Given the description of an element on the screen output the (x, y) to click on. 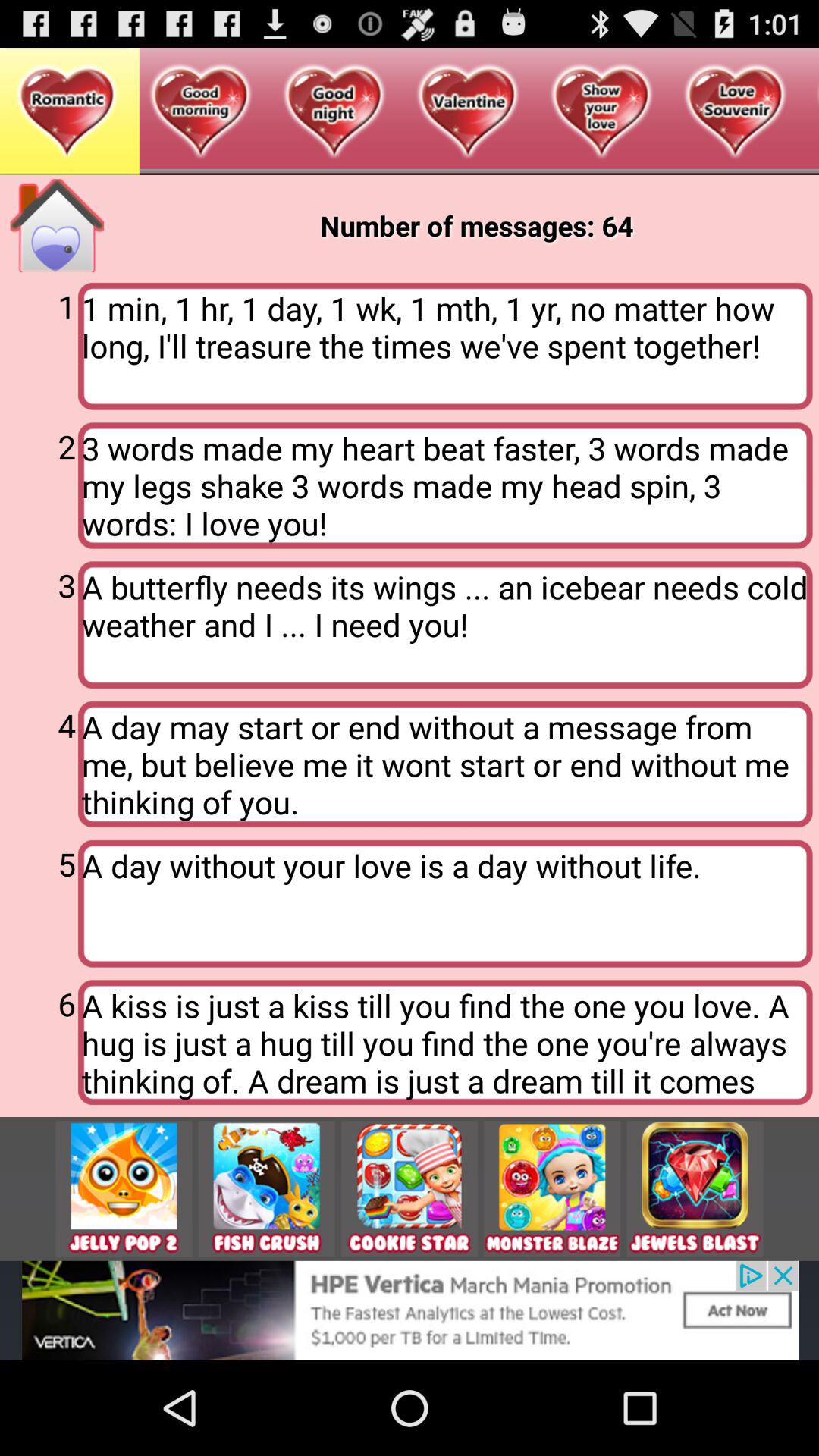
click for jewels blast (694, 1188)
